Given the description of an element on the screen output the (x, y) to click on. 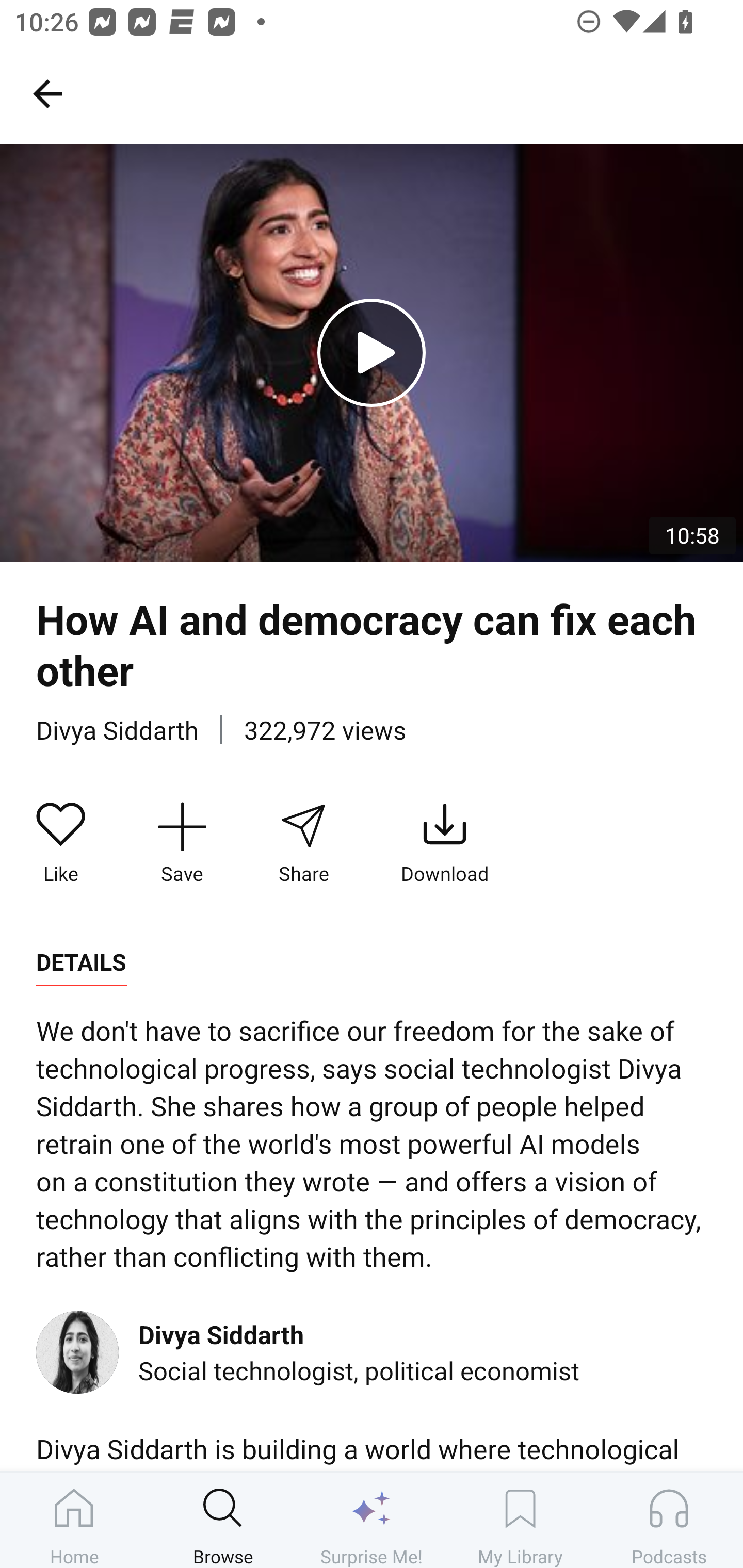
Search, back (47, 92)
Like (60, 843)
Save (181, 843)
Share (302, 843)
Download (444, 843)
DETAILS (80, 962)
Home (74, 1520)
Browse (222, 1520)
Surprise Me! (371, 1520)
My Library (519, 1520)
Podcasts (668, 1520)
